Given the description of an element on the screen output the (x, y) to click on. 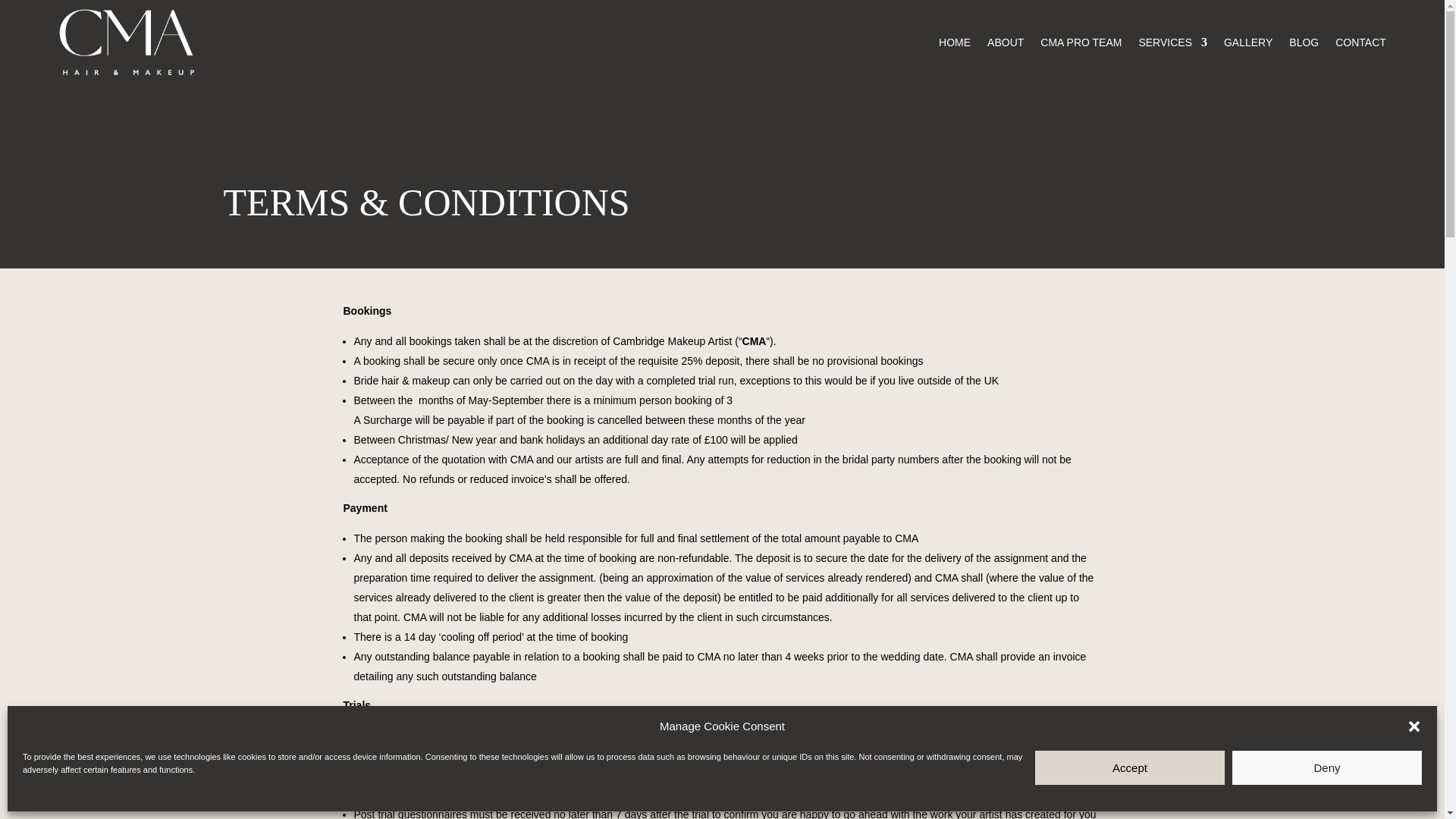
CMA PRO TEAM (1081, 41)
Accept (1129, 767)
Deny (1326, 767)
SERVICES (1172, 41)
